Given the description of an element on the screen output the (x, y) to click on. 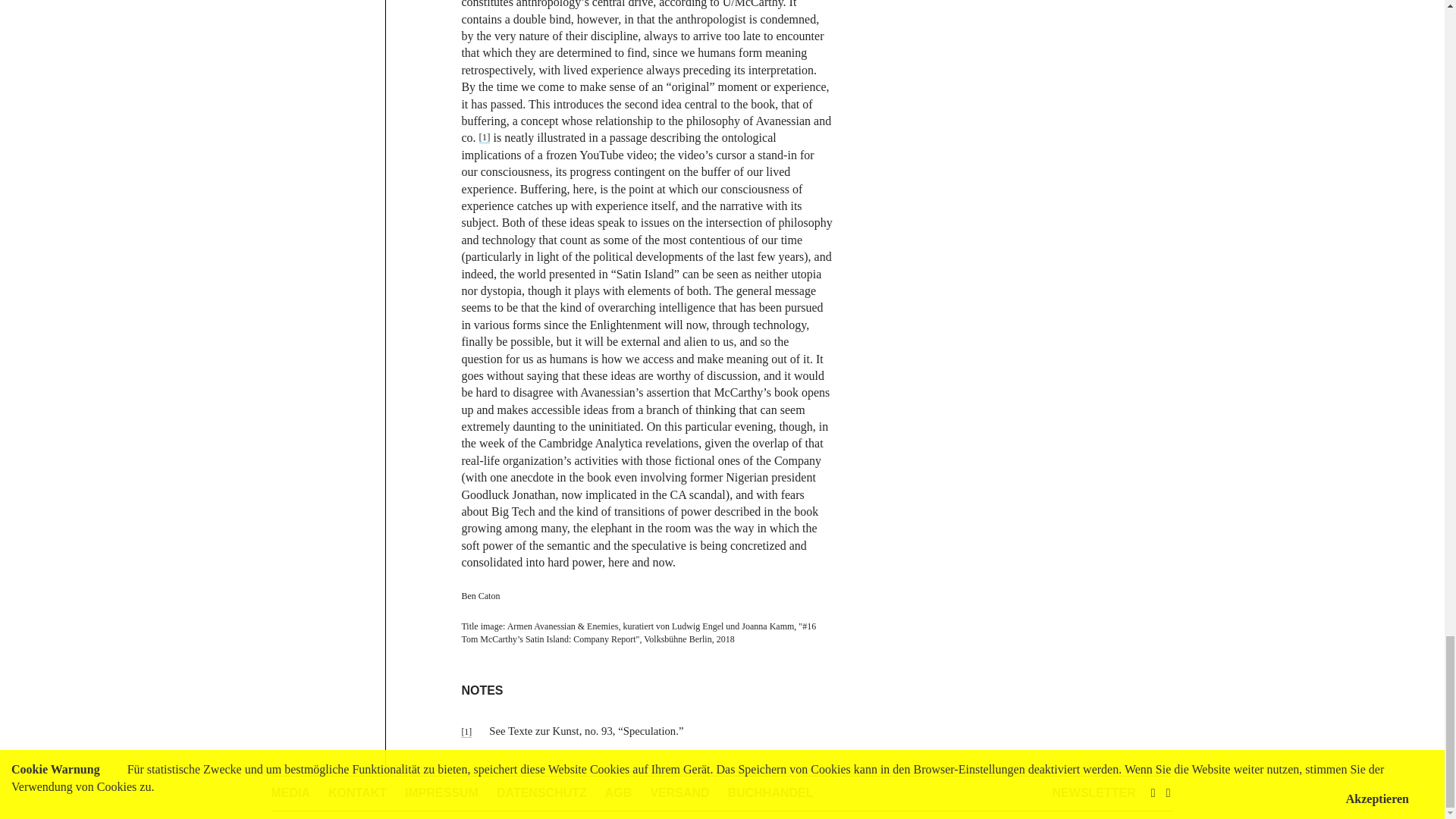
BUCHHANDEL (770, 792)
NEWSLETTER (1093, 792)
MEDIA (290, 792)
AGB (618, 792)
DATENSCHUTZ (541, 792)
VERSAND (679, 792)
IMPRESSUM (441, 792)
KONTAKT (358, 792)
